Given the description of an element on the screen output the (x, y) to click on. 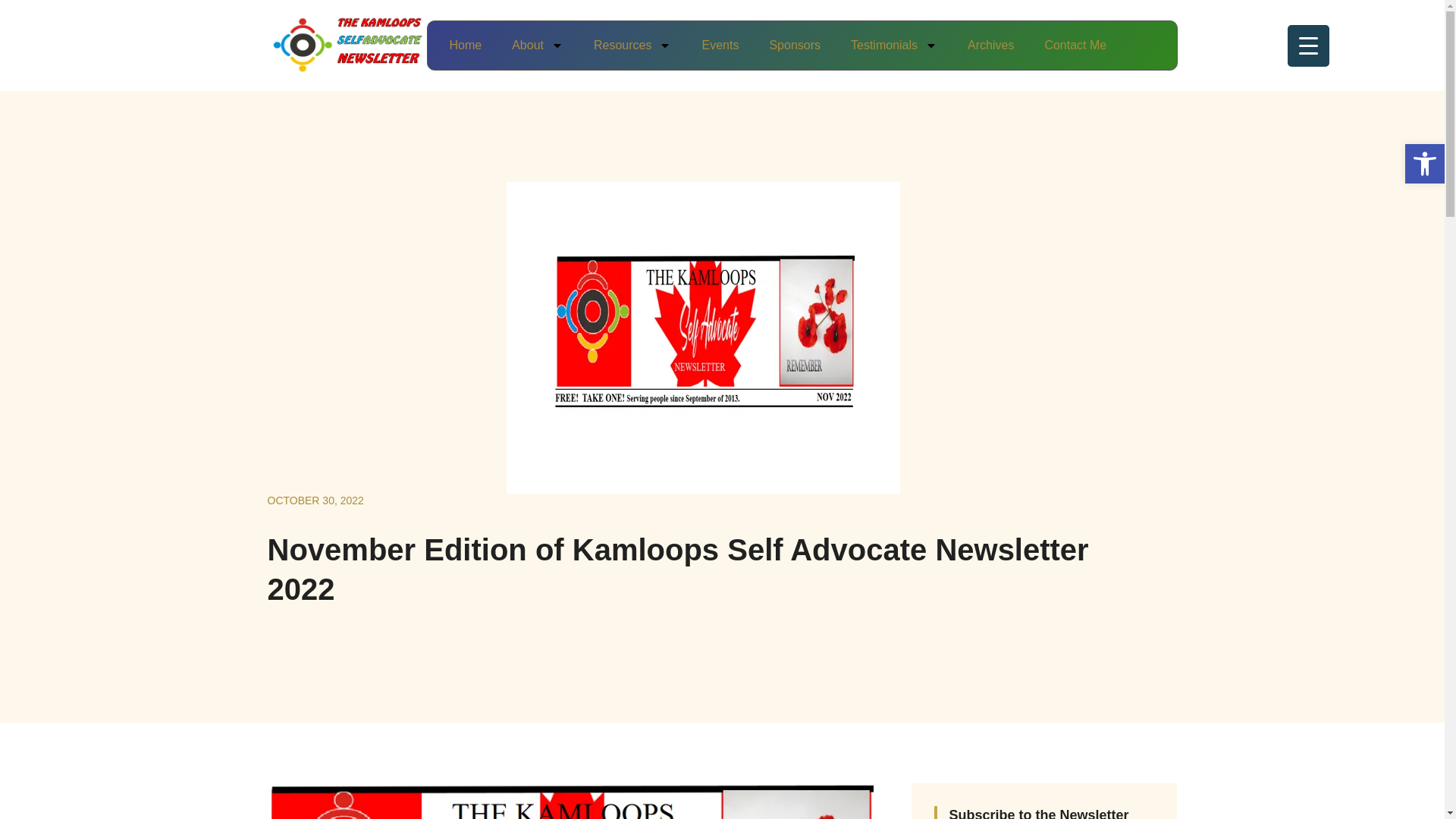
Accessibility Tools (1424, 163)
